Given the description of an element on the screen output the (x, y) to click on. 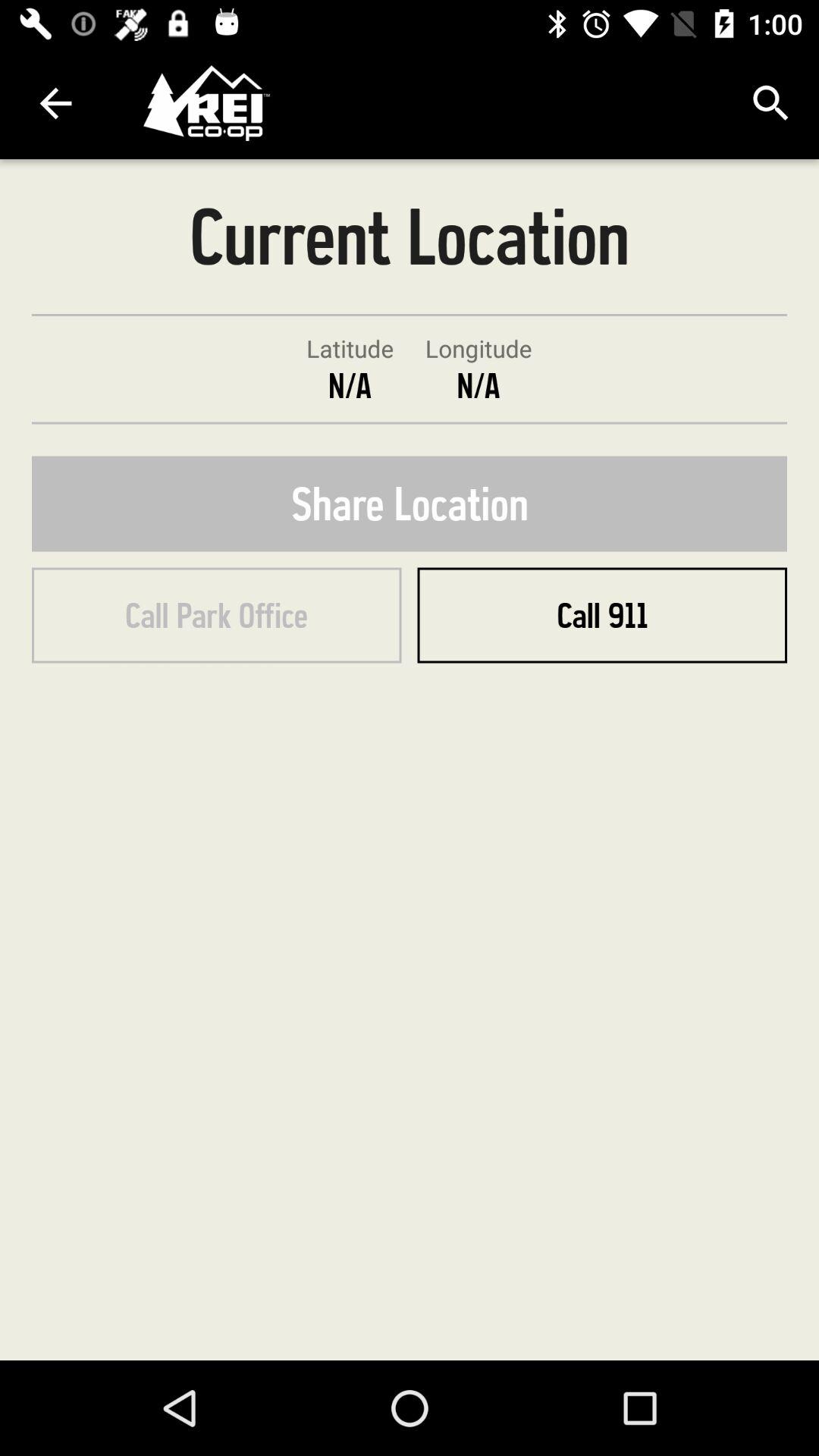
launch the item at the center (409, 503)
